Given the description of an element on the screen output the (x, y) to click on. 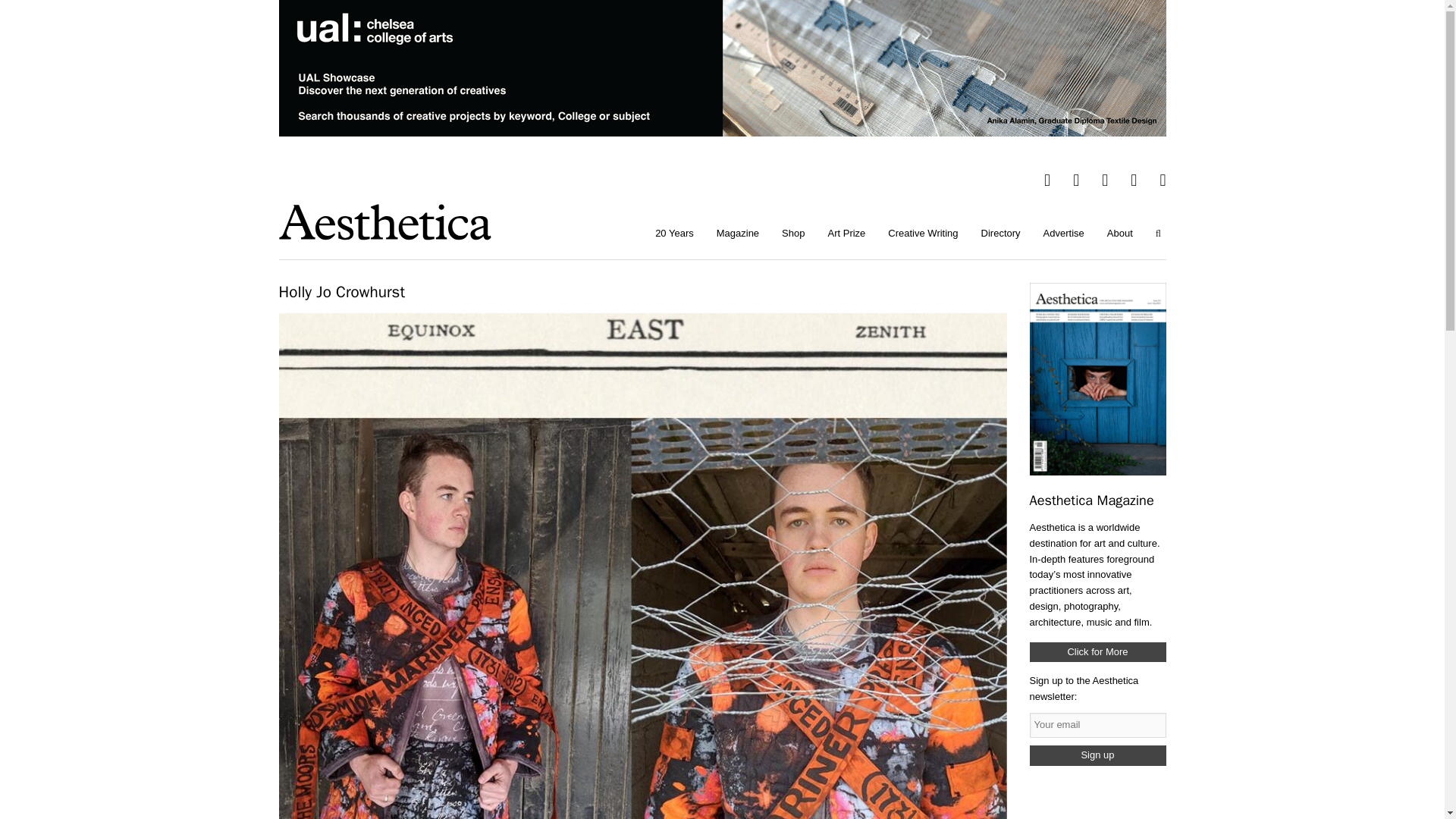
Advertise (1064, 234)
20 Years (673, 234)
Magazine (737, 234)
About (1120, 234)
Shop (792, 234)
Creative Writing (922, 234)
Art Prize (845, 234)
Directory (1000, 234)
